Given the description of an element on the screen output the (x, y) to click on. 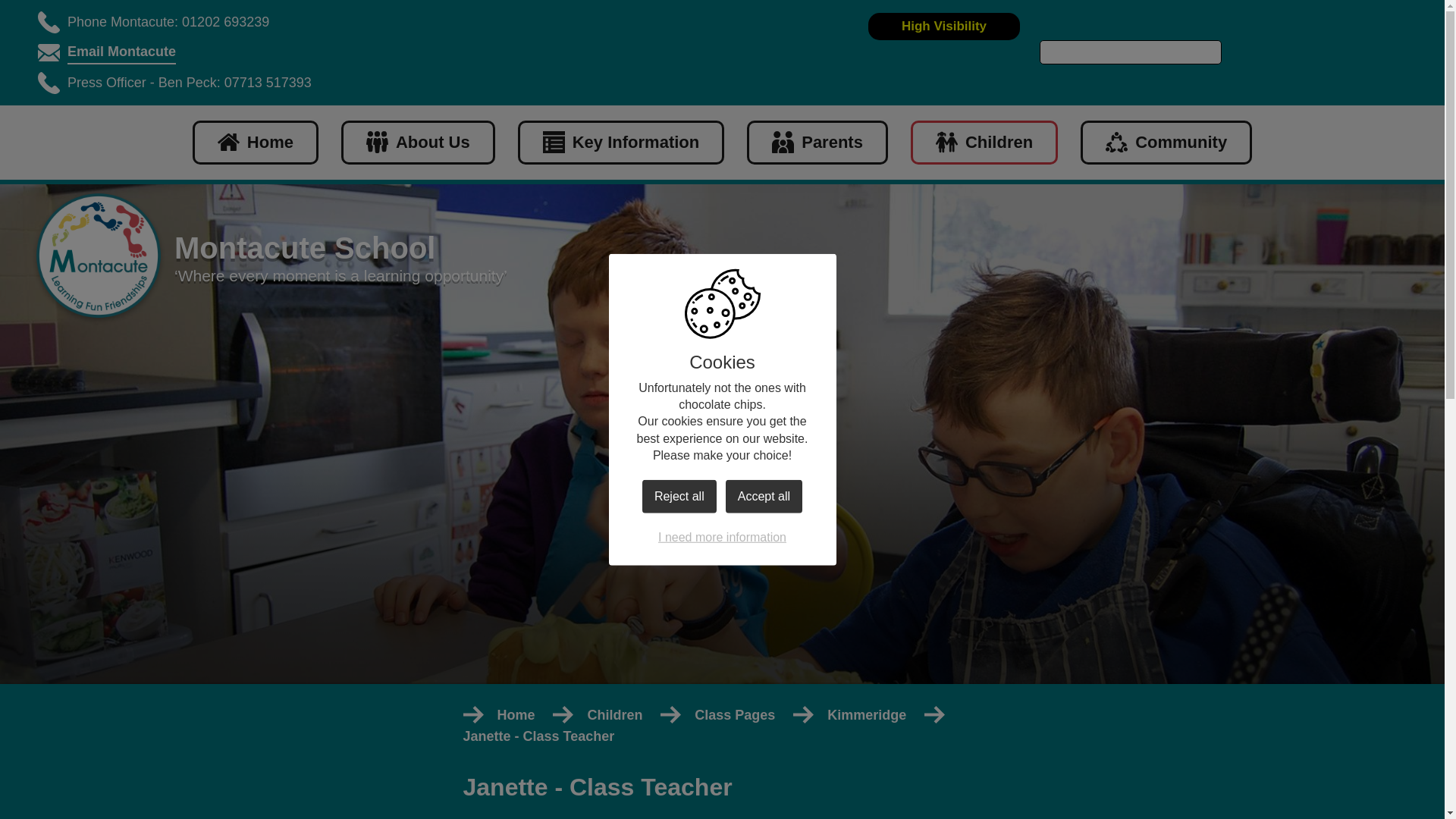
Parents (817, 142)
About Us (417, 142)
Phone Montacute: 01202 693239 (167, 22)
Email Montacute (121, 52)
High Visibility (943, 26)
Home (255, 142)
Home Page (98, 257)
Press Officer - Ben Peck: 07713 517393 (188, 83)
Key Information (620, 142)
